Given the description of an element on the screen output the (x, y) to click on. 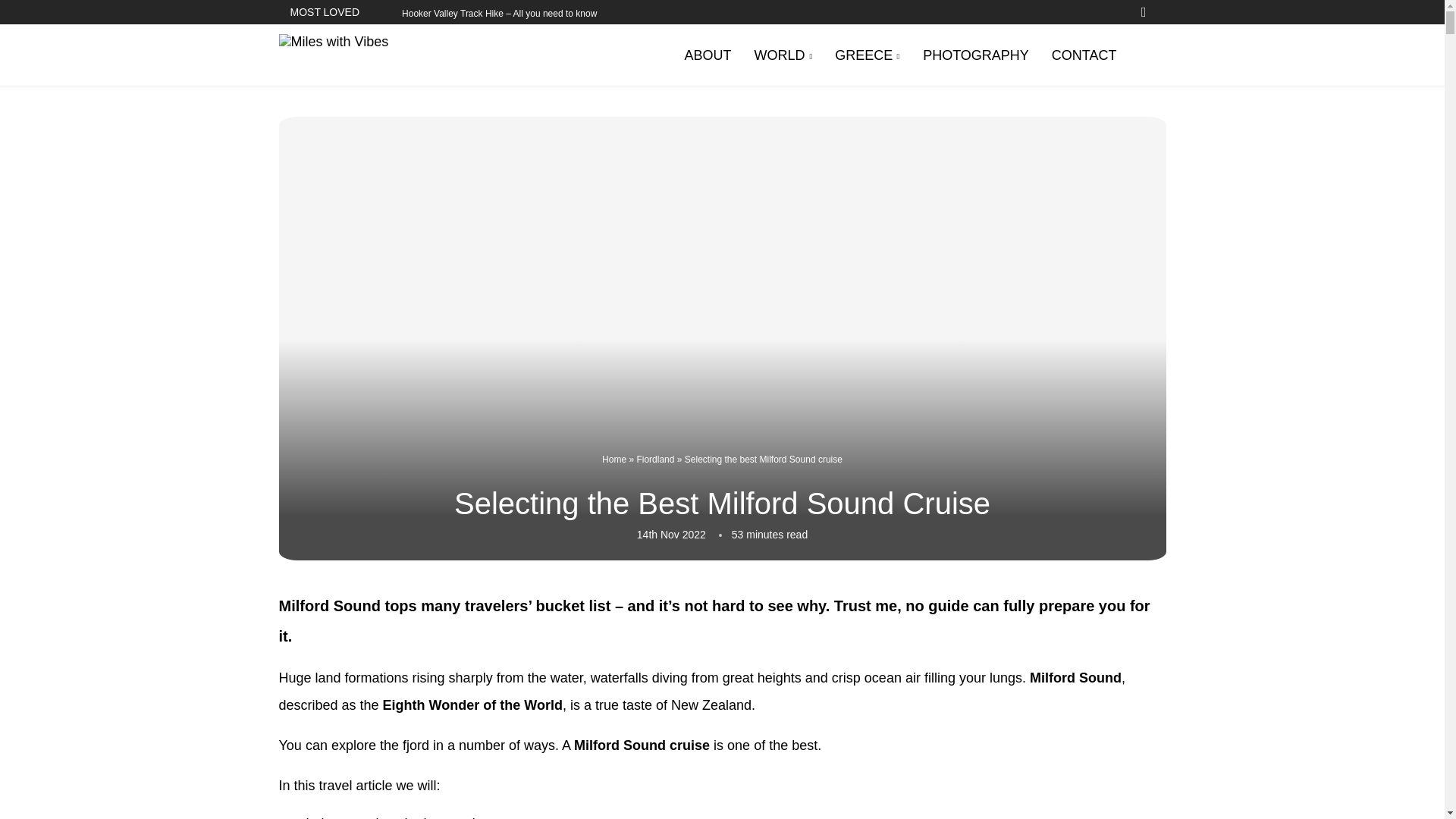
GREECE (866, 55)
Home (614, 459)
WORLD (783, 55)
ABOUT (708, 55)
PHOTOGRAPHY (976, 55)
Fiordland (655, 459)
CONTACT (1083, 55)
